Given the description of an element on the screen output the (x, y) to click on. 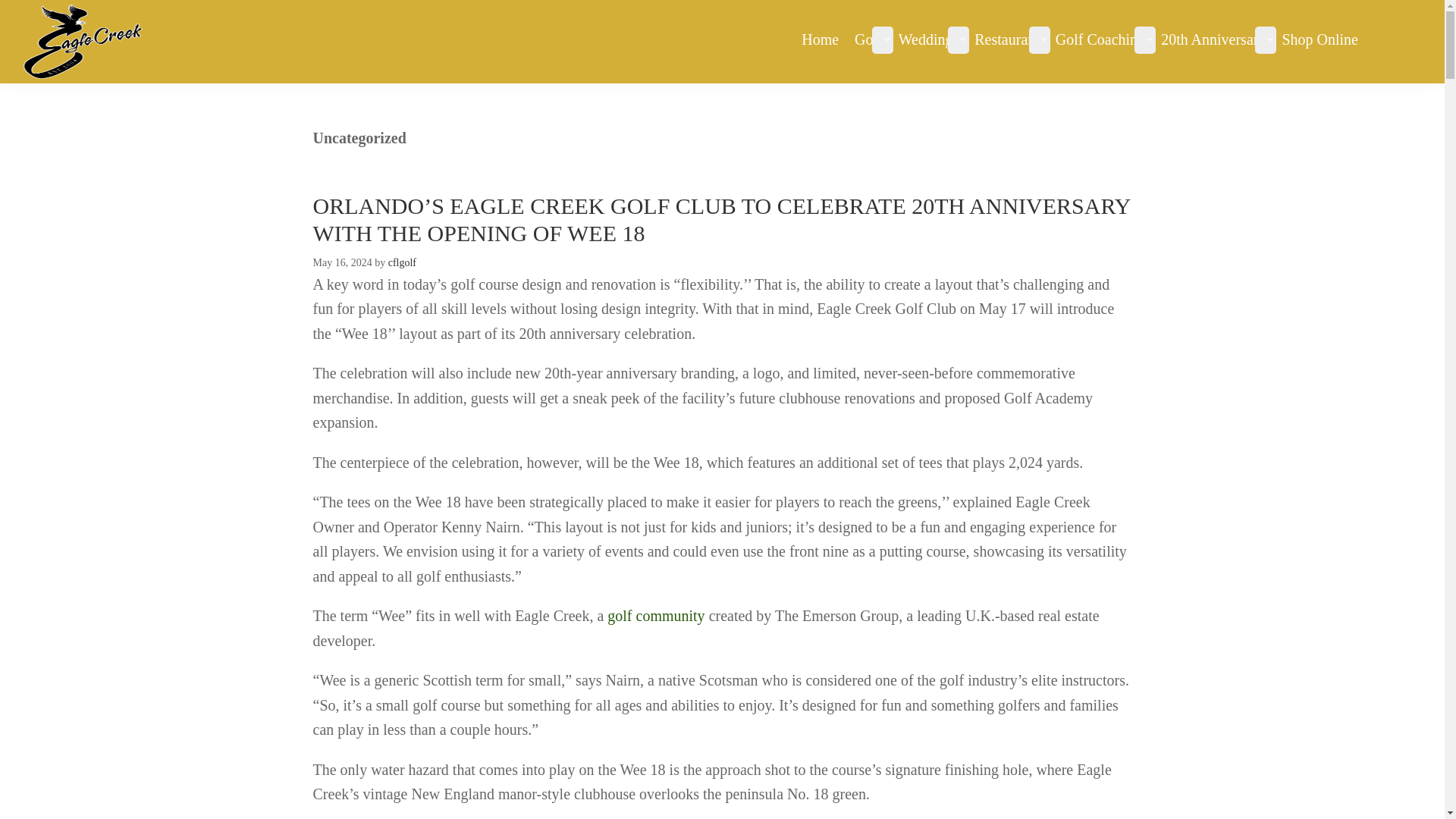
Home (823, 38)
Golf (873, 38)
Weddings (932, 38)
Golf Coaching (1105, 38)
Restaurant (1010, 38)
